Given the description of an element on the screen output the (x, y) to click on. 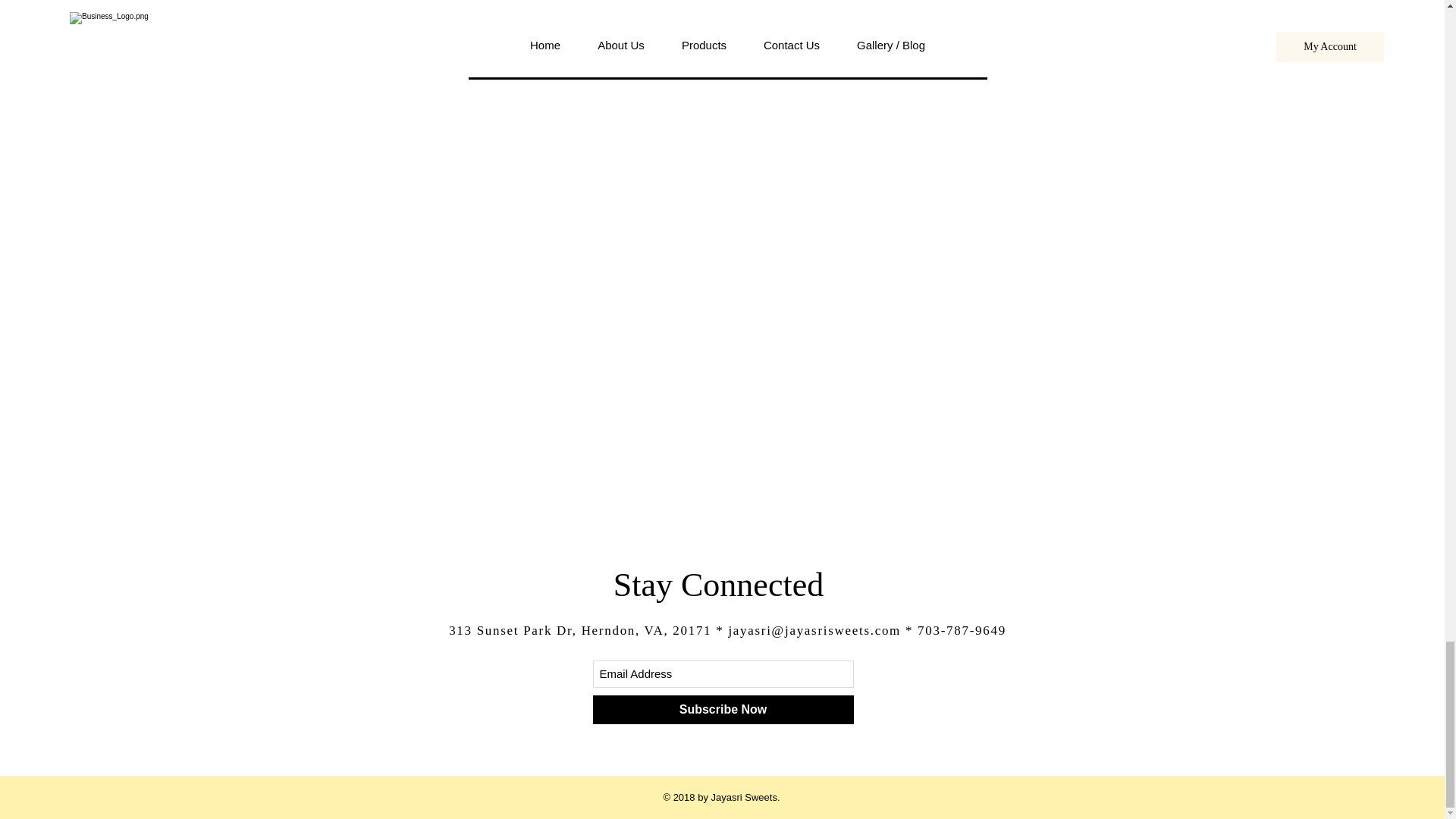
Subscribe Now (722, 709)
Stay Connected (718, 584)
